Given the description of an element on the screen output the (x, y) to click on. 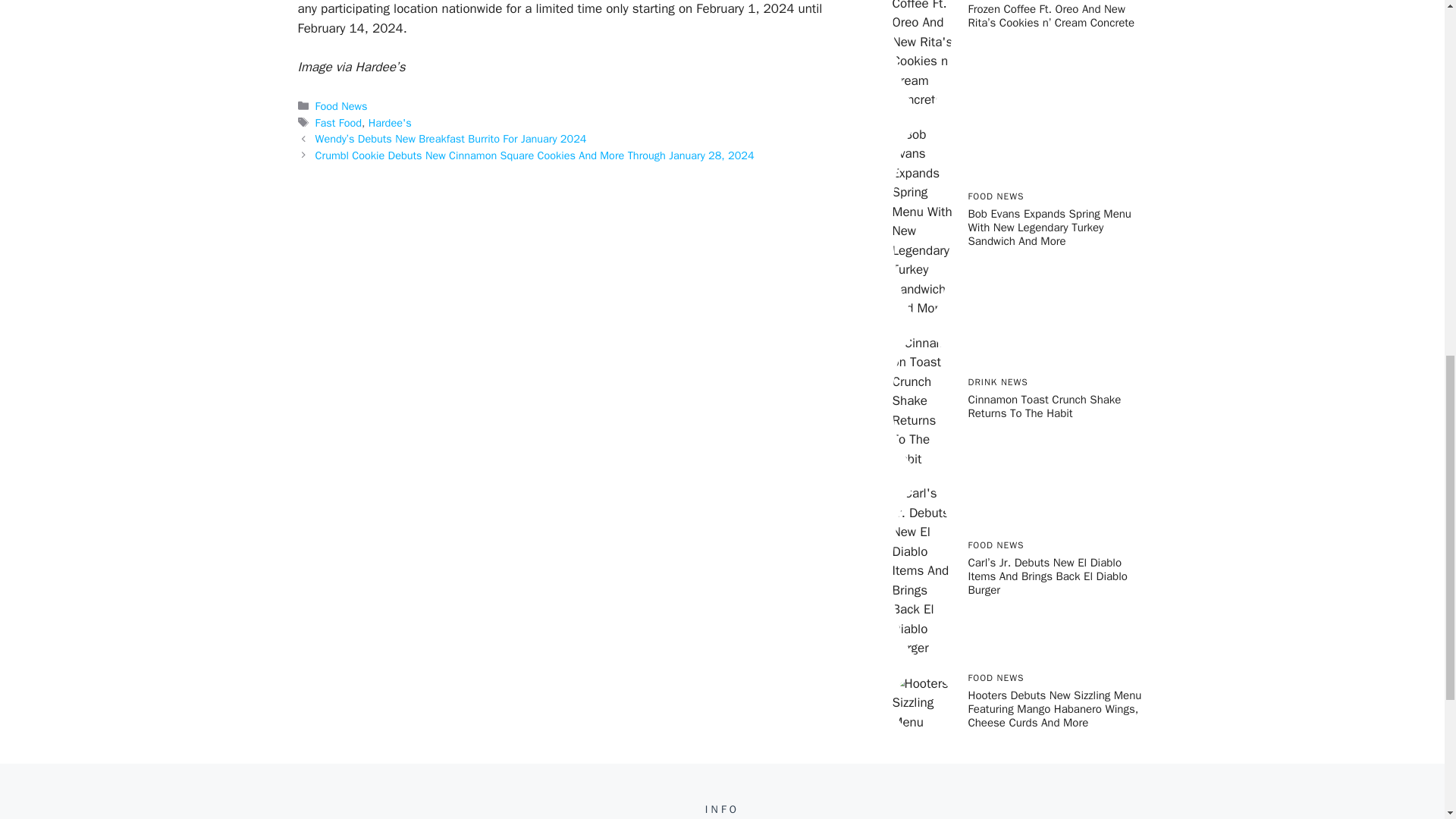
Hardee's (390, 122)
Cinnamon Toast Crunch Shake Returns To The Habit (1044, 406)
Fast Food (338, 122)
Food News (341, 106)
